Given the description of an element on the screen output the (x, y) to click on. 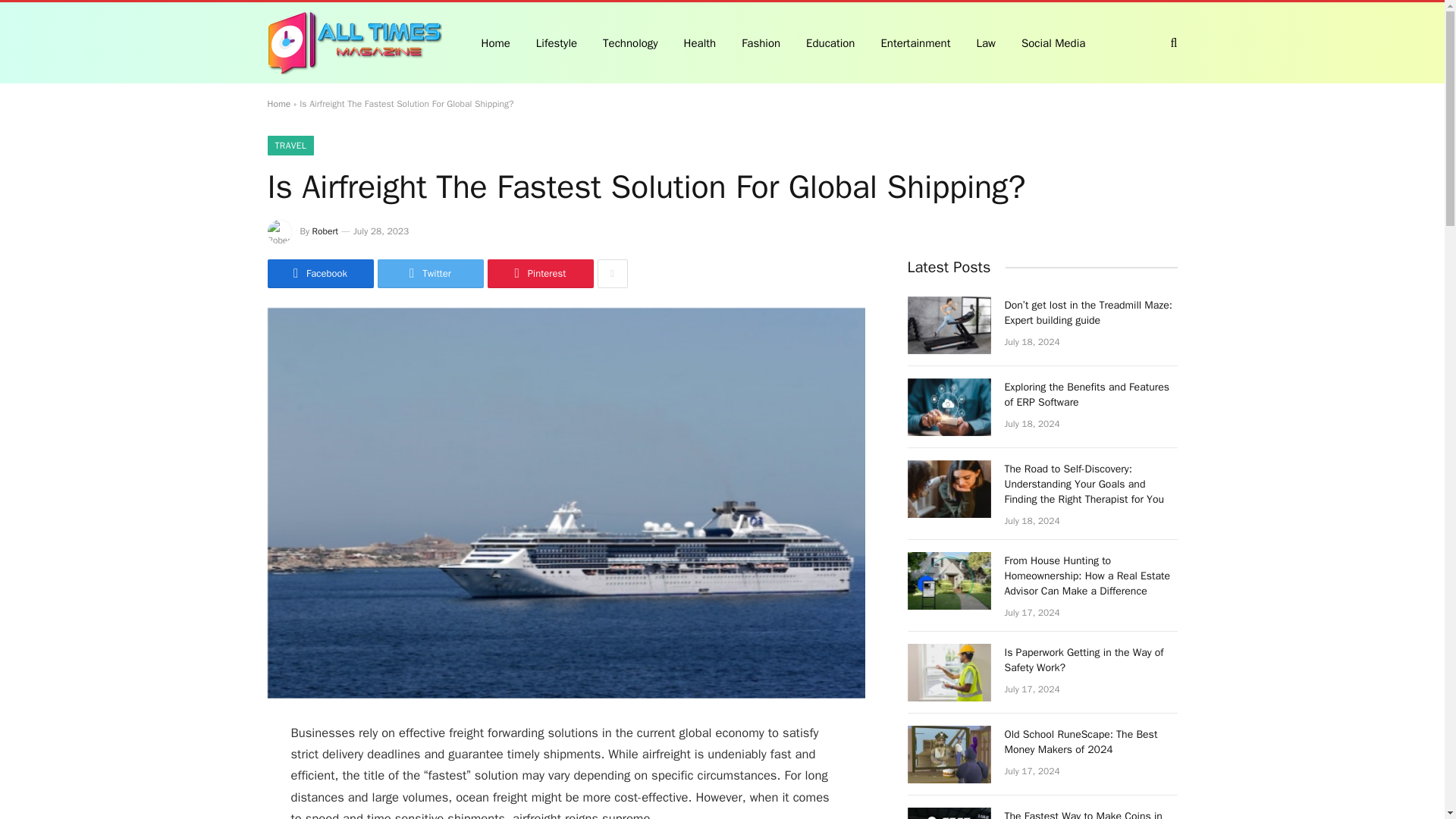
Pinterest (539, 273)
Social Media (1053, 42)
Share on Facebook (319, 273)
Twitter (430, 273)
Show More Social Sharing (611, 273)
TRAVEL (290, 145)
alltimesmagazine.com (353, 42)
Facebook (319, 273)
Technology (630, 42)
Education (830, 42)
Entertainment (914, 42)
Posts by Robert (326, 231)
Robert (326, 231)
Home (277, 103)
